Given the description of an element on the screen output the (x, y) to click on. 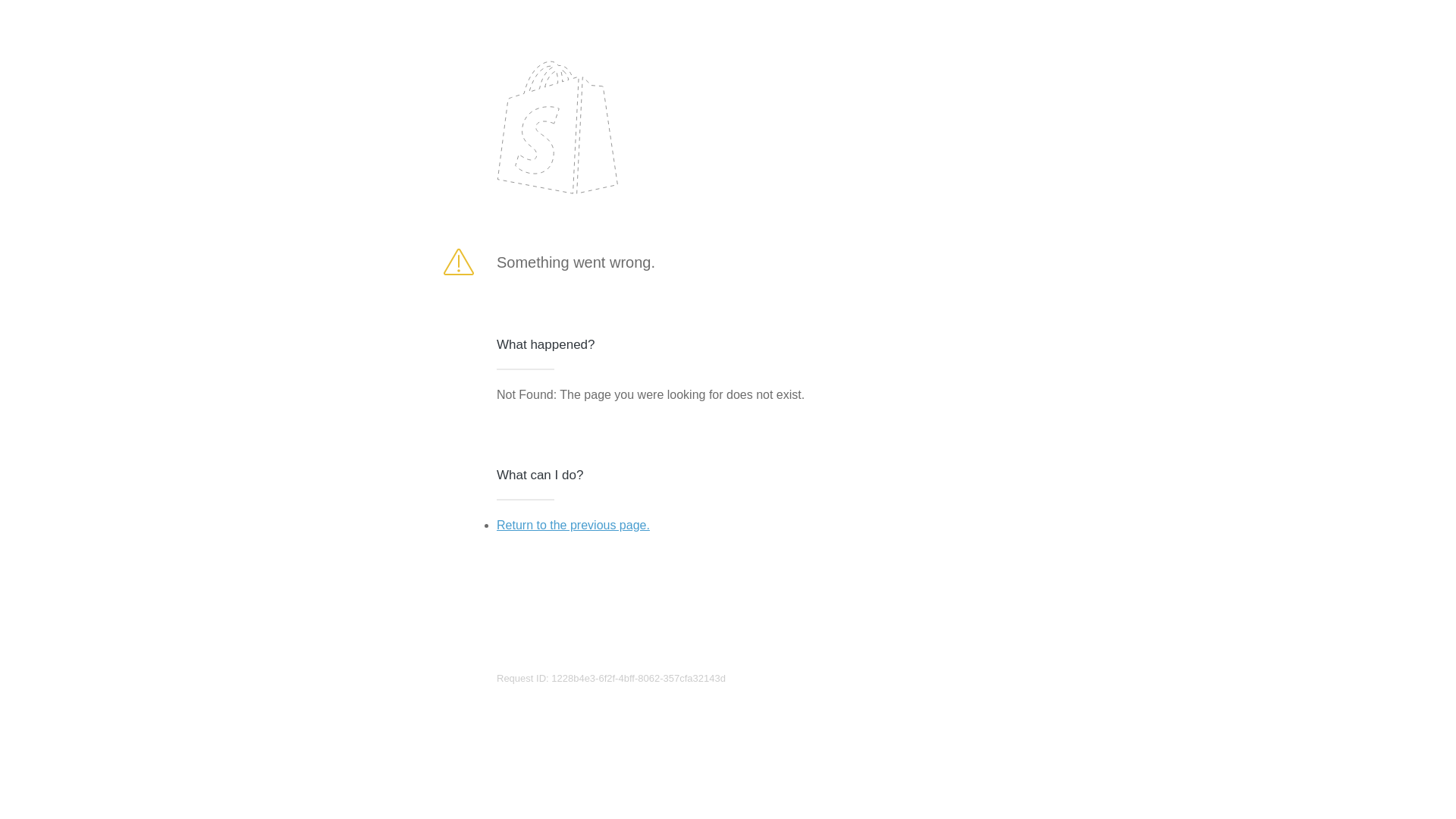
Return to the previous page. Element type: text (572, 524)
